Given the description of an element on the screen output the (x, y) to click on. 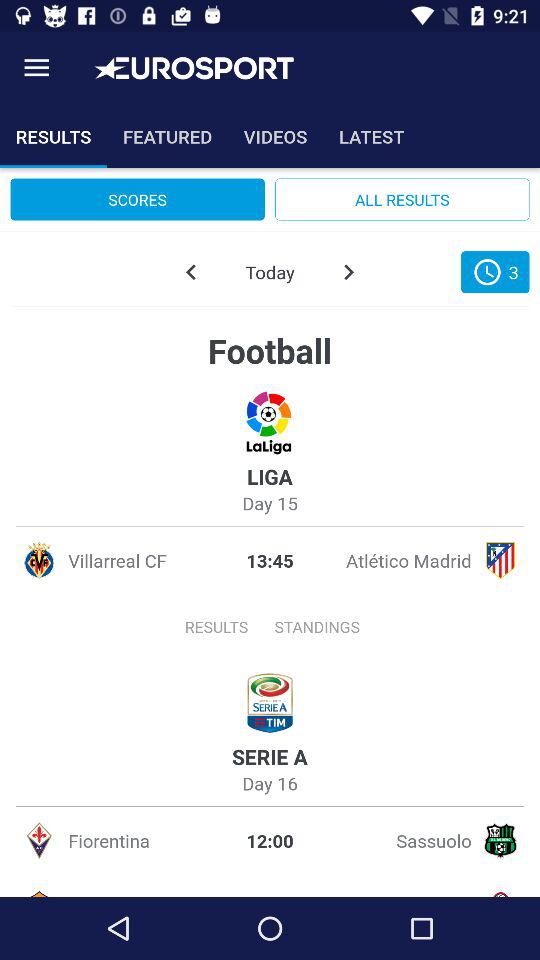
flip until the all results icon (402, 199)
